Given the description of an element on the screen output the (x, y) to click on. 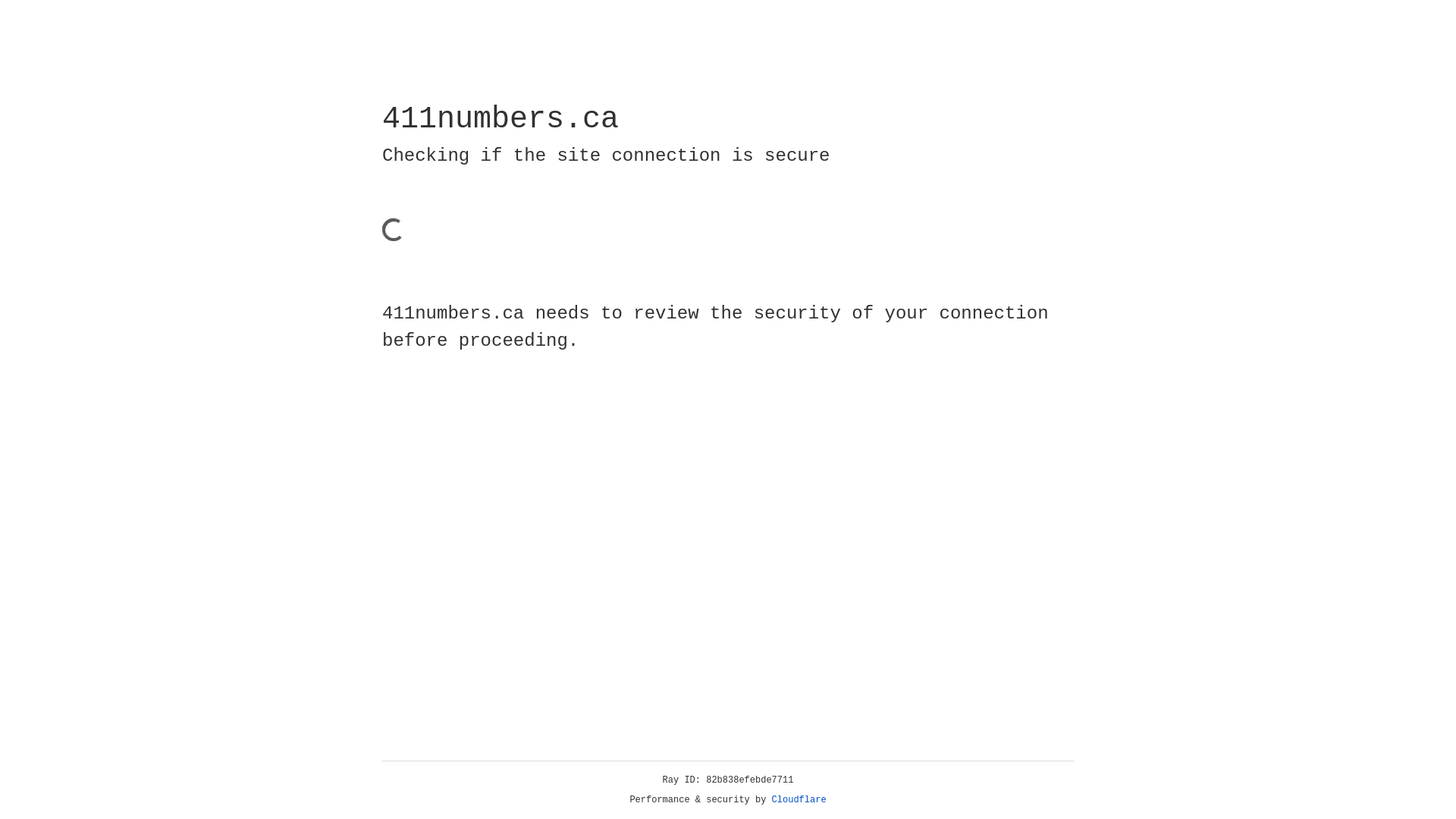
Cloudflare Element type: text (798, 799)
